Given the description of an element on the screen output the (x, y) to click on. 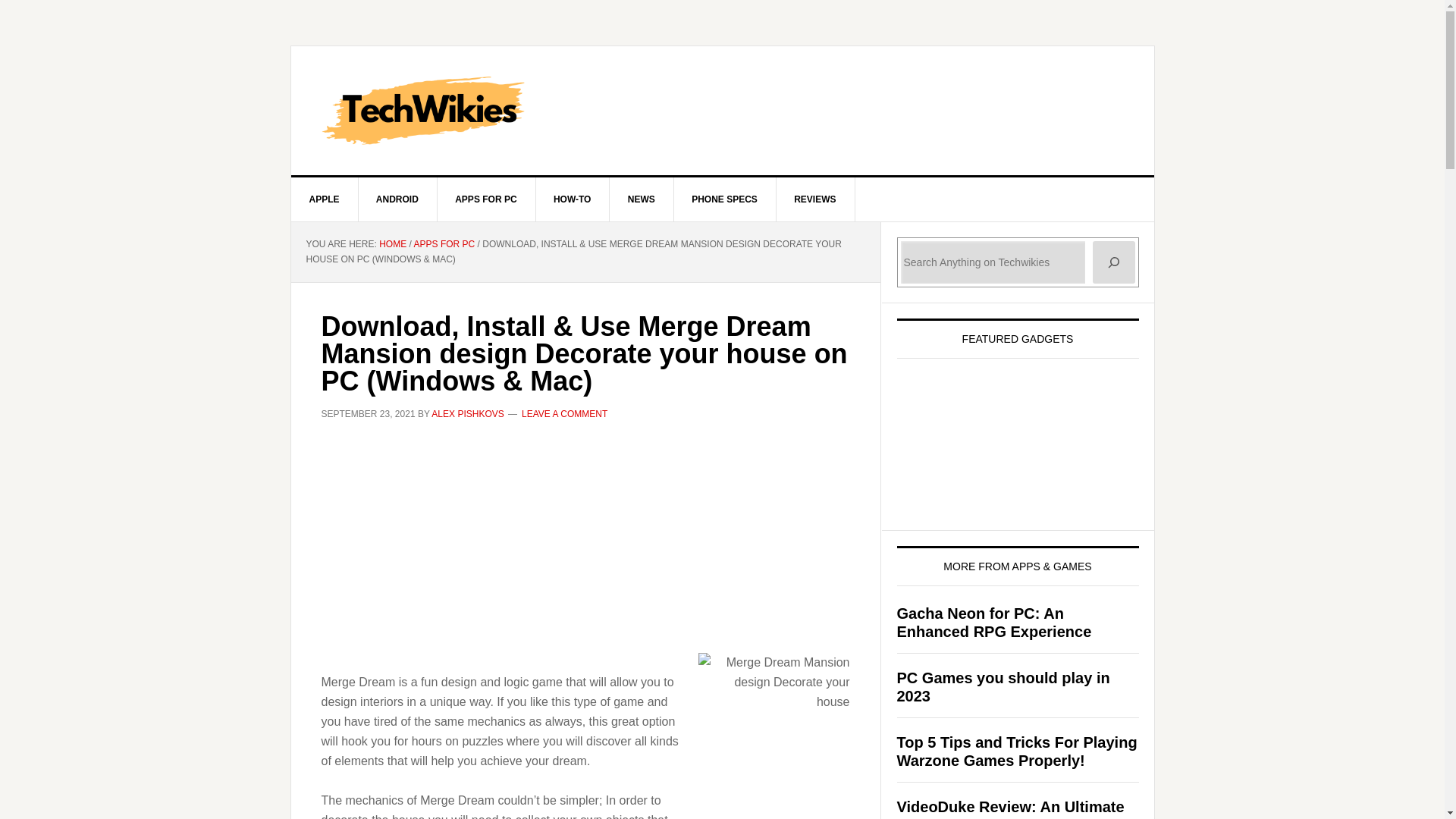
APPS FOR PC (444, 244)
Advertisement (585, 545)
HOME (392, 244)
ALEX PISHKOVS (466, 413)
TECHWIKIES.COM (722, 110)
APPLE (324, 199)
APPS FOR PC (485, 199)
LEAVE A COMMENT (564, 413)
REVIEWS (815, 199)
